Given the description of an element on the screen output the (x, y) to click on. 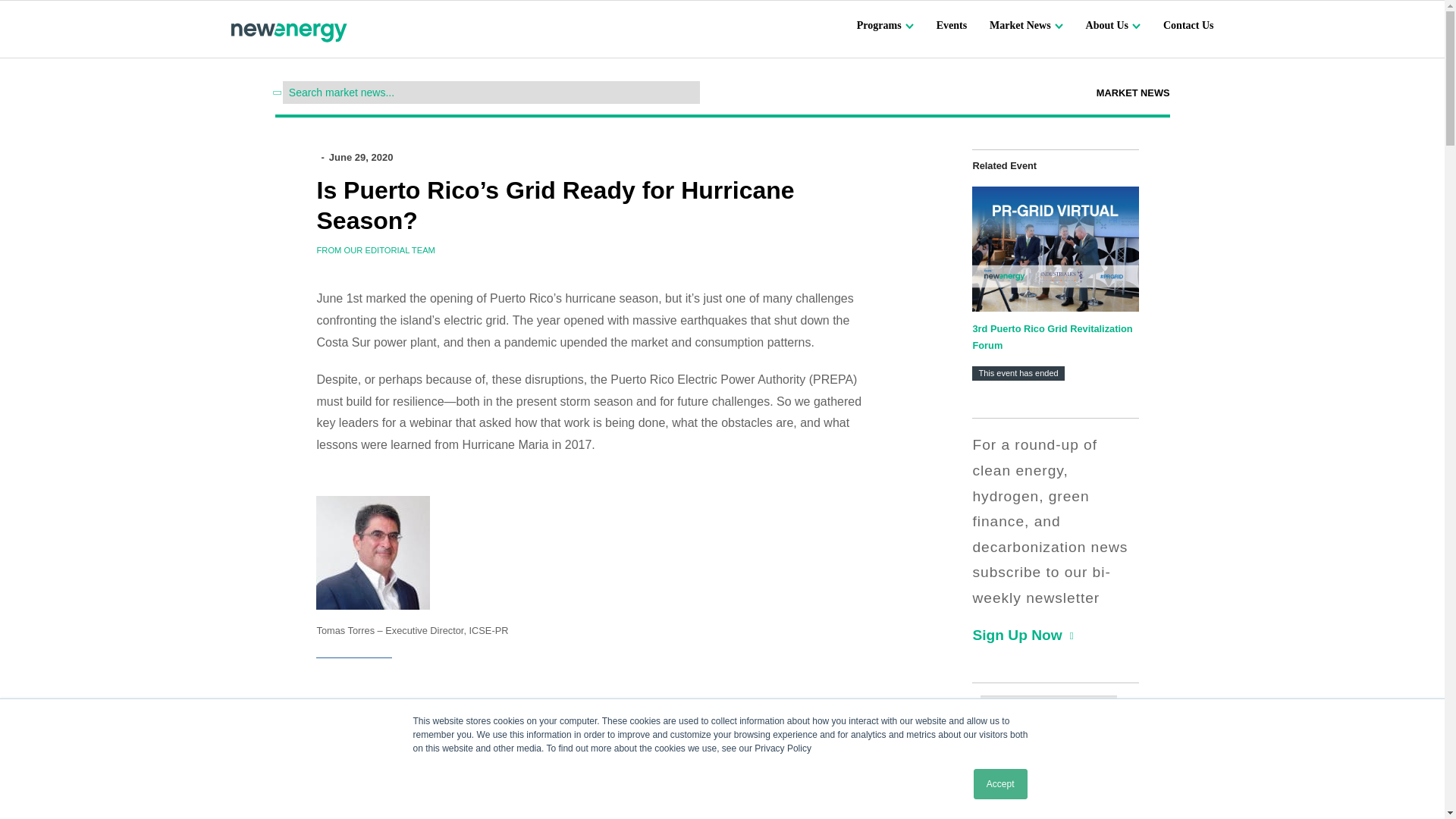
Market News (1026, 24)
MARKET NEWS (1133, 92)
Programs (885, 24)
Accept (1000, 784)
Contact Us (1188, 24)
FROM OUR EDITORIAL TEAM (374, 249)
3rd Puerto Rico Grid Revitalization Forum (1052, 336)
Events (951, 24)
About Us (1113, 24)
Sign Up Now (1016, 634)
